Given the description of an element on the screen output the (x, y) to click on. 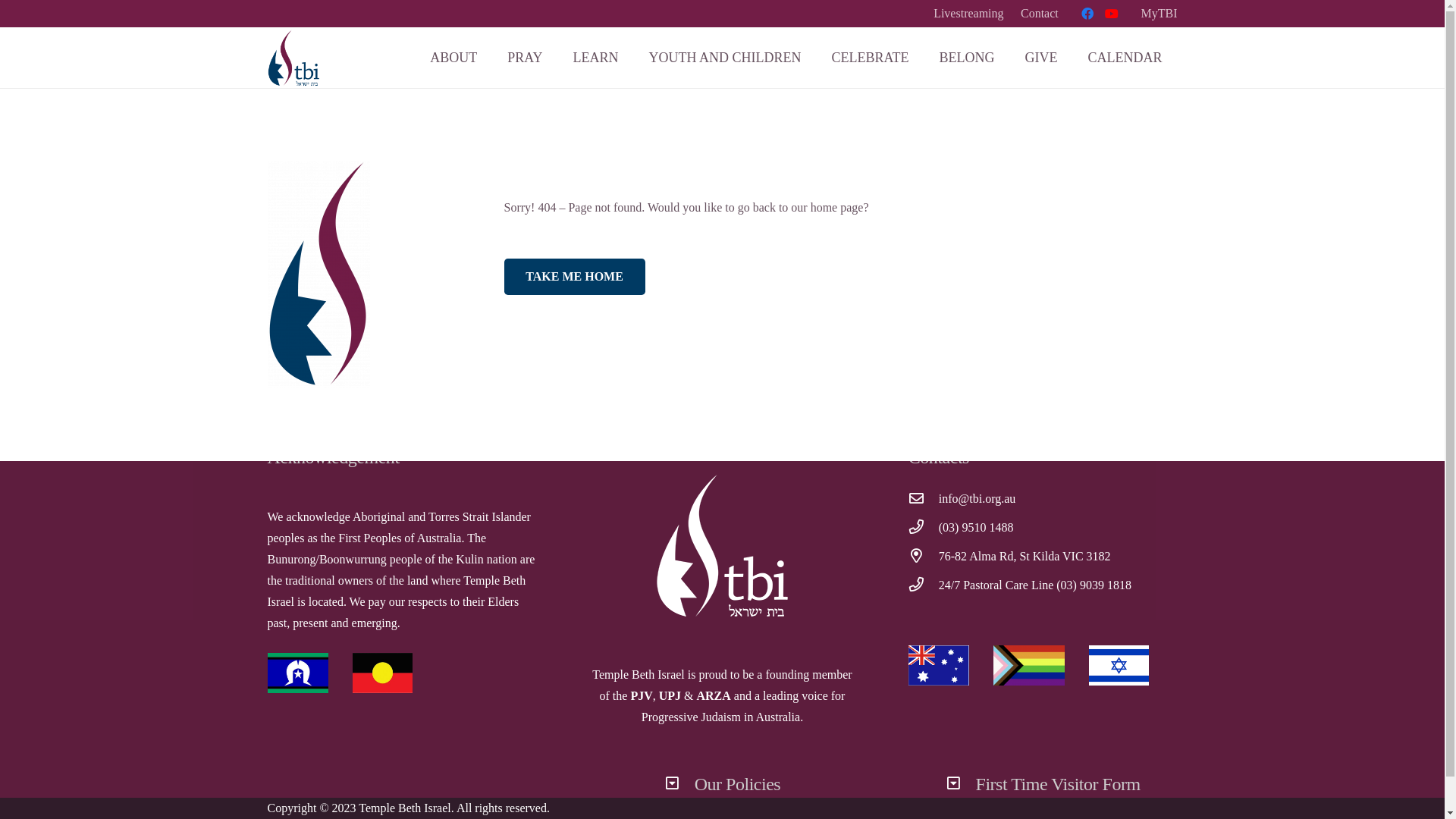
TAKE ME HOME Element type: text (573, 276)
(03) 9510 1488 Element type: text (975, 528)
info@tbi.org.au Element type: text (977, 499)
CELEBRATE Element type: text (870, 57)
ARZA Element type: text (713, 695)
MyTBI Element type: text (1158, 12)
PRAY Element type: text (524, 57)
First Time Visitor Form Element type: text (1057, 784)
YouTube Element type: hover (1111, 13)
Our Policies Element type: hover (679, 784)
ABOUT Element type: text (453, 57)
PJV Element type: text (641, 695)
GIVE Element type: text (1041, 57)
24/7 Pastoral Care Line (03) 9039 1818 Element type: text (1034, 585)
Livestreaming Element type: text (968, 12)
LEARN Element type: text (595, 57)
UPJ Element type: text (669, 695)
Temple Beth Israel Element type: text (404, 807)
Our Policies Element type: text (737, 784)
76-82 Alma Rd, St Kilda VIC 3182 Element type: text (1024, 556)
BELONG Element type: text (967, 57)
YOUTH AND CHILDREN Element type: text (724, 57)
CALENDAR Element type: text (1125, 57)
Contact Element type: text (1039, 12)
Facebook Element type: hover (1087, 13)
